Given the description of an element on the screen output the (x, y) to click on. 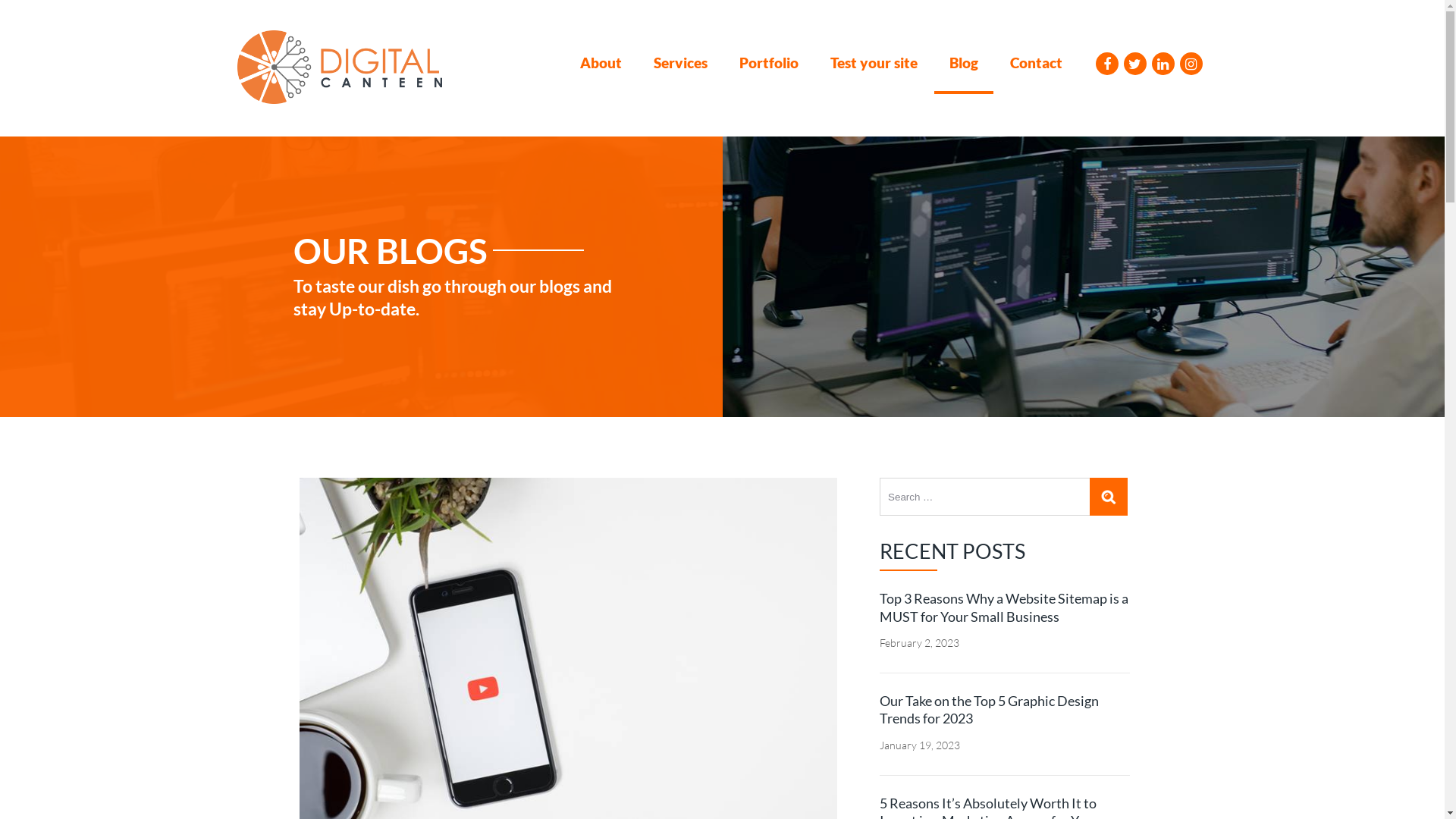
Services Element type: text (680, 71)
Blog Element type: text (963, 71)
  Element type: text (1108, 496)
Test your site Element type: text (872, 71)
Contact Element type: text (1035, 71)
About Element type: text (600, 71)
Portfolio Element type: text (767, 71)
Our Take on the Top 5 Graphic Design Trends for 2023 Element type: text (1004, 710)
